Given the description of an element on the screen output the (x, y) to click on. 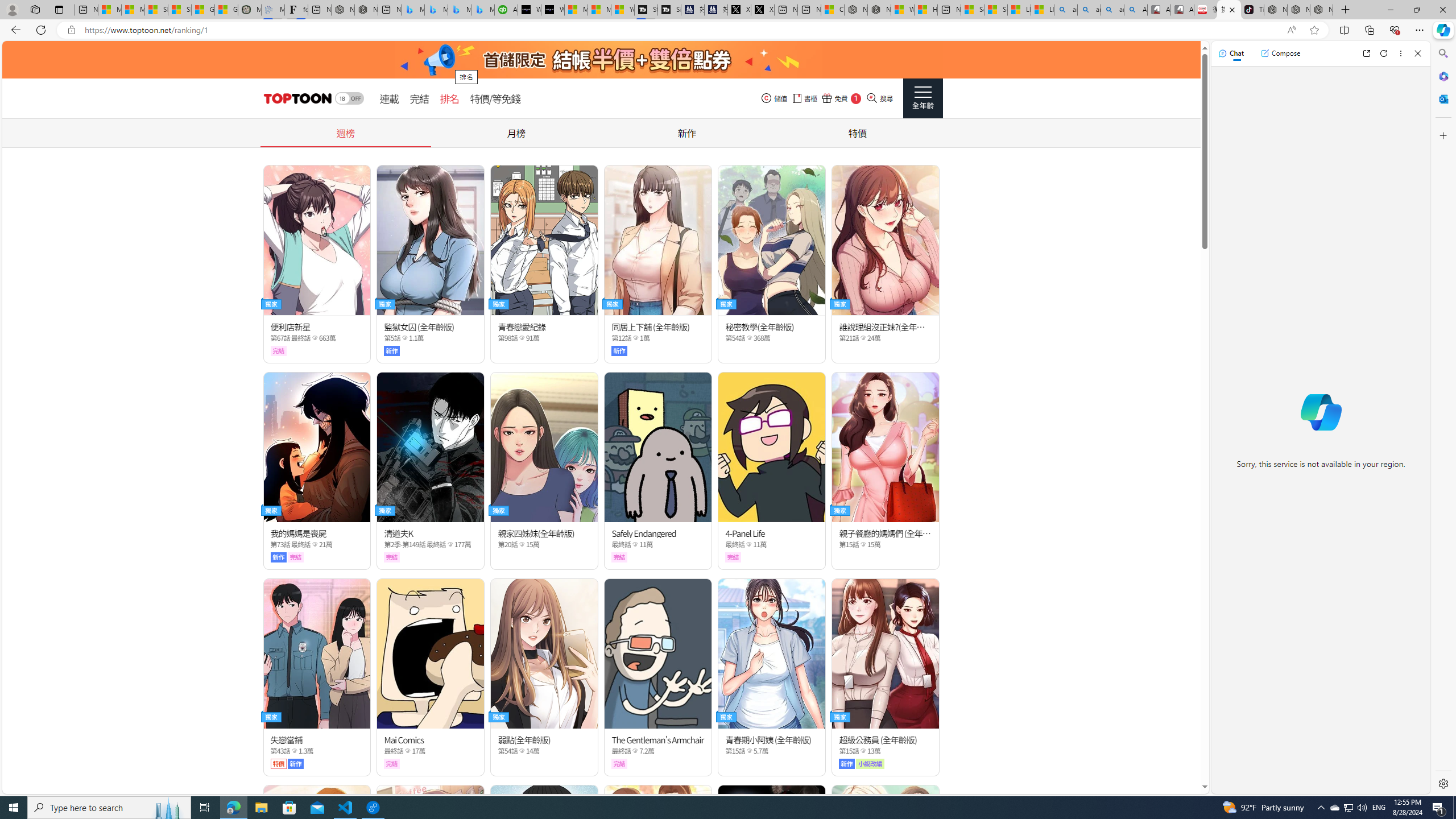
Microsoft Bing Travel - Stays in Bangkok, Bangkok, Thailand (435, 9)
amazon - Search Images (1112, 9)
